Given the description of an element on the screen output the (x, y) to click on. 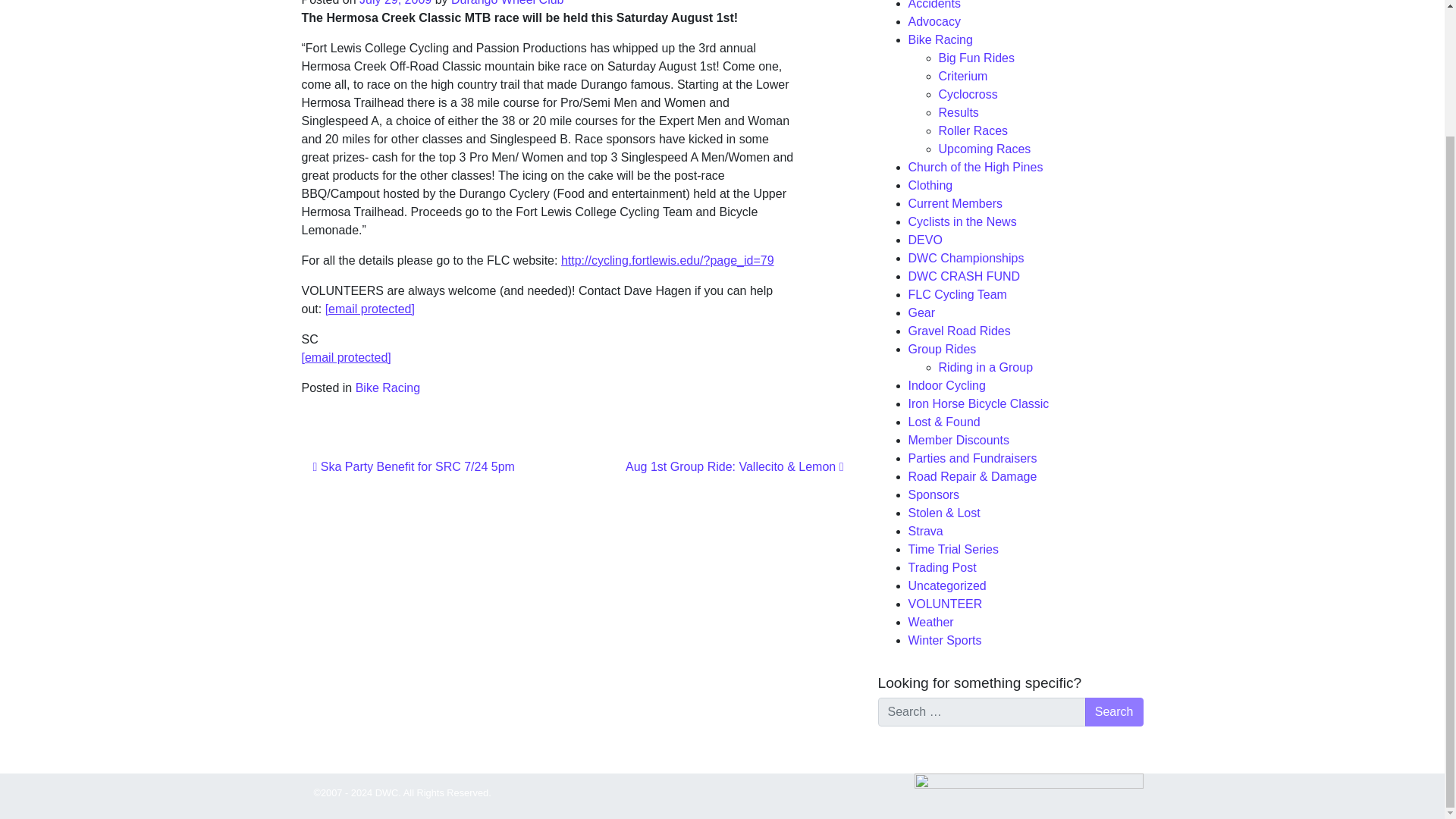
Indoor Cycling (946, 385)
Upcoming Races (984, 148)
FLC Cycling Team (957, 294)
Group Rides (942, 349)
Accidents (934, 4)
DEVO (925, 239)
Clothing (930, 185)
Current Members (955, 203)
Big Fun Rides (976, 57)
Durango Wheel Club (507, 2)
